Given the description of an element on the screen output the (x, y) to click on. 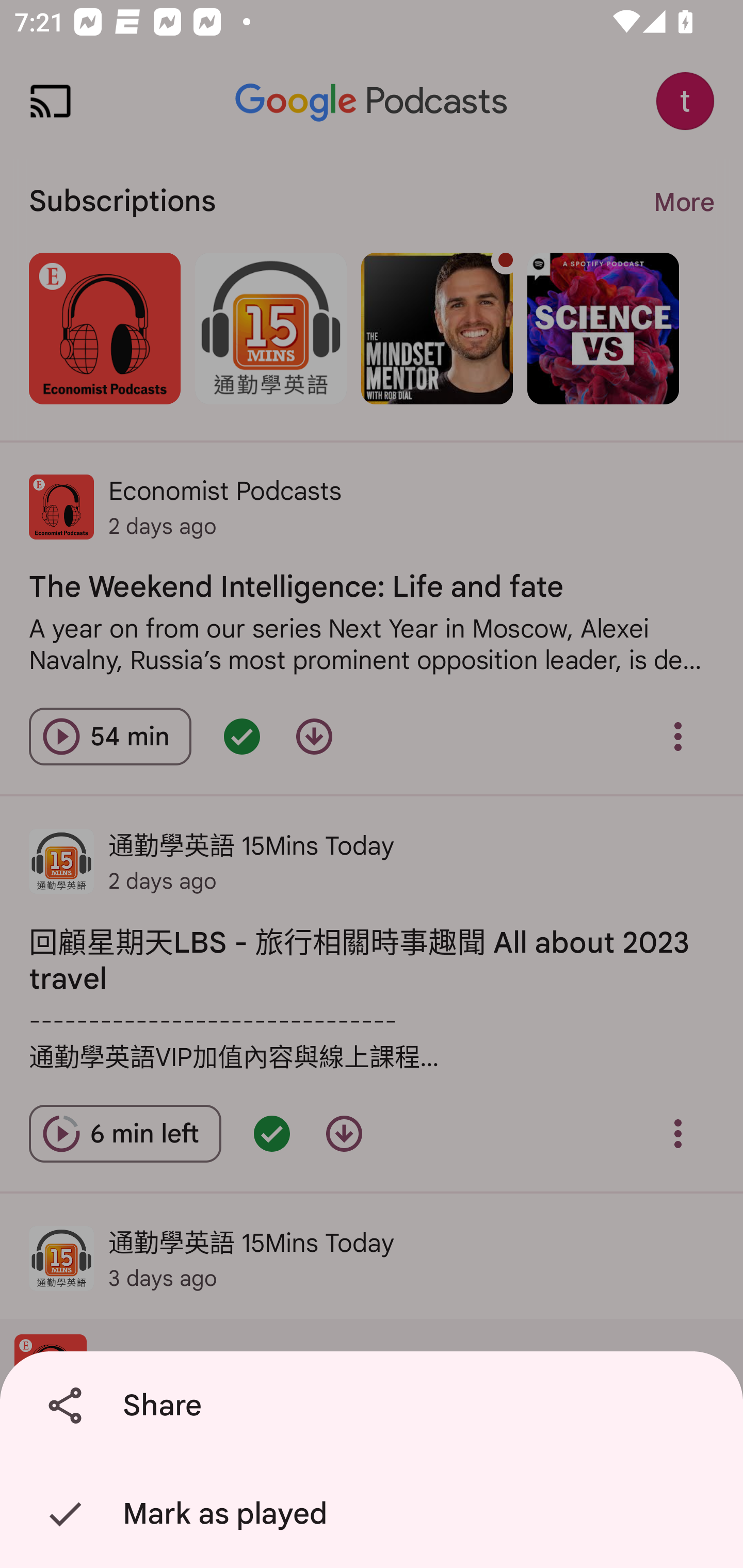
Share (375, 1405)
Mark as played (375, 1513)
